Given the description of an element on the screen output the (x, y) to click on. 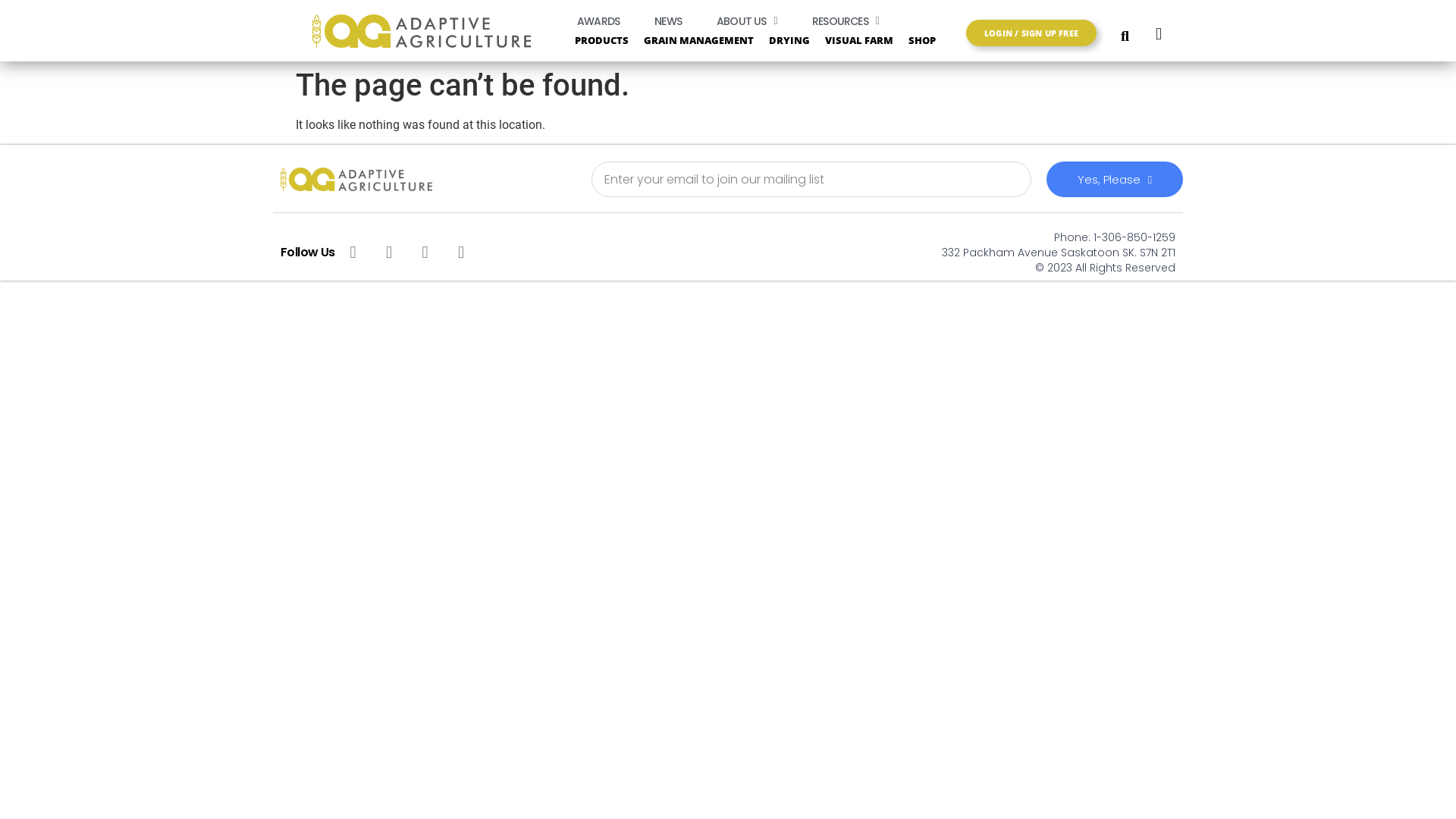
Yes, Please Element type: text (1114, 179)
LOGIN / SIGN UP FREE Element type: text (1031, 32)
SHOP Element type: text (933, 39)
DRYING Element type: text (789, 39)
NEWS Element type: text (667, 20)
AWARDS Element type: text (597, 20)
RESOURCES Element type: text (845, 20)
PRODUCTS Element type: text (601, 39)
VISUAL FARM Element type: text (858, 39)
ABOUT US Element type: text (746, 20)
GRAIN MANAGEMENT Element type: text (698, 39)
